Given the description of an element on the screen output the (x, y) to click on. 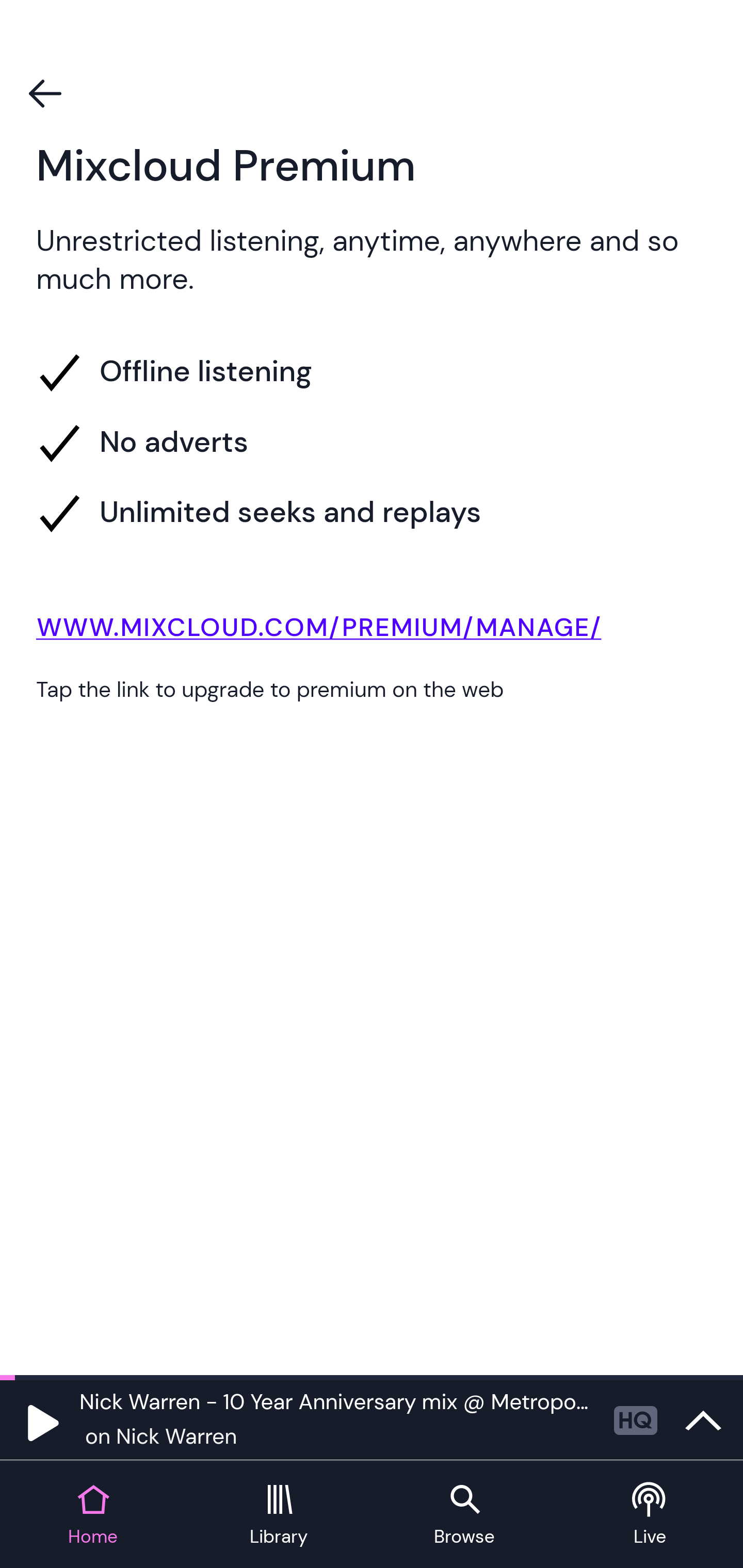
WWW.MIXCLOUD.COM/PREMIUM/MANAGE/ (371, 630)
Home tab Home (92, 1515)
Library tab Library (278, 1515)
Browse tab Browse (464, 1515)
Live tab Live (650, 1515)
